Given the description of an element on the screen output the (x, y) to click on. 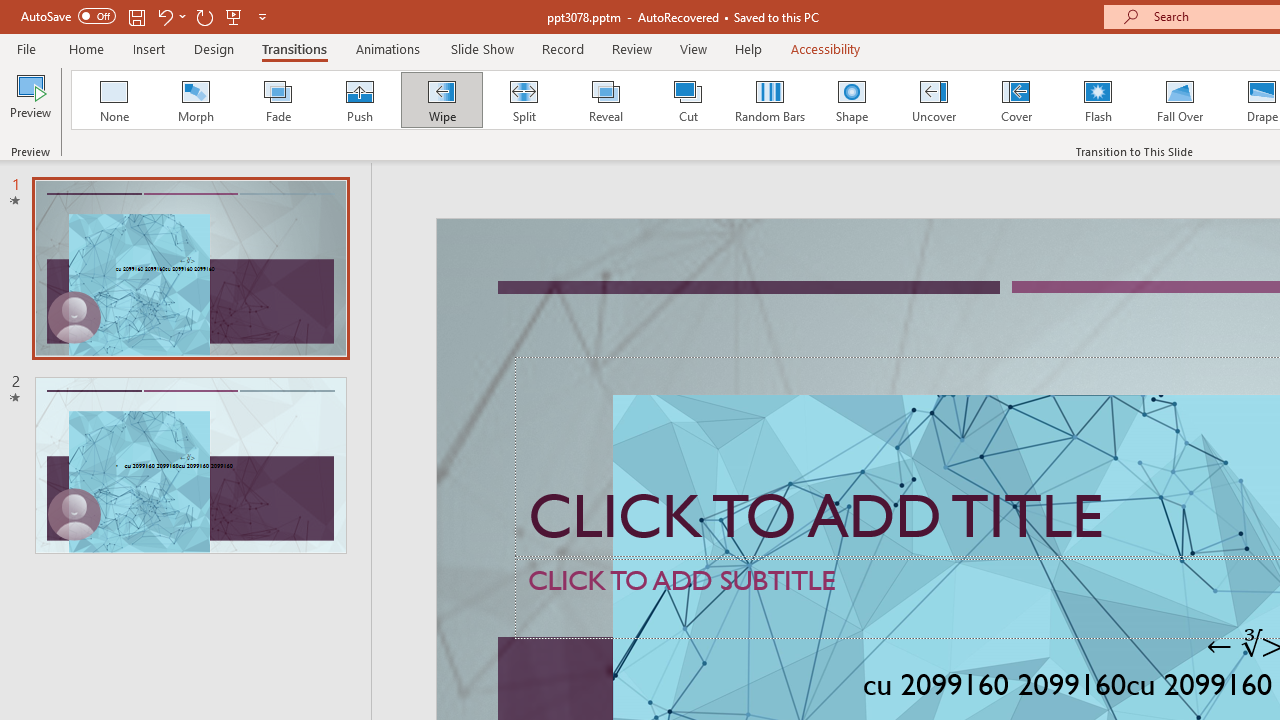
Split (523, 100)
Fall Over (1180, 100)
Shape (852, 100)
Reveal (605, 100)
Random Bars (770, 100)
None (113, 100)
